Given the description of an element on the screen output the (x, y) to click on. 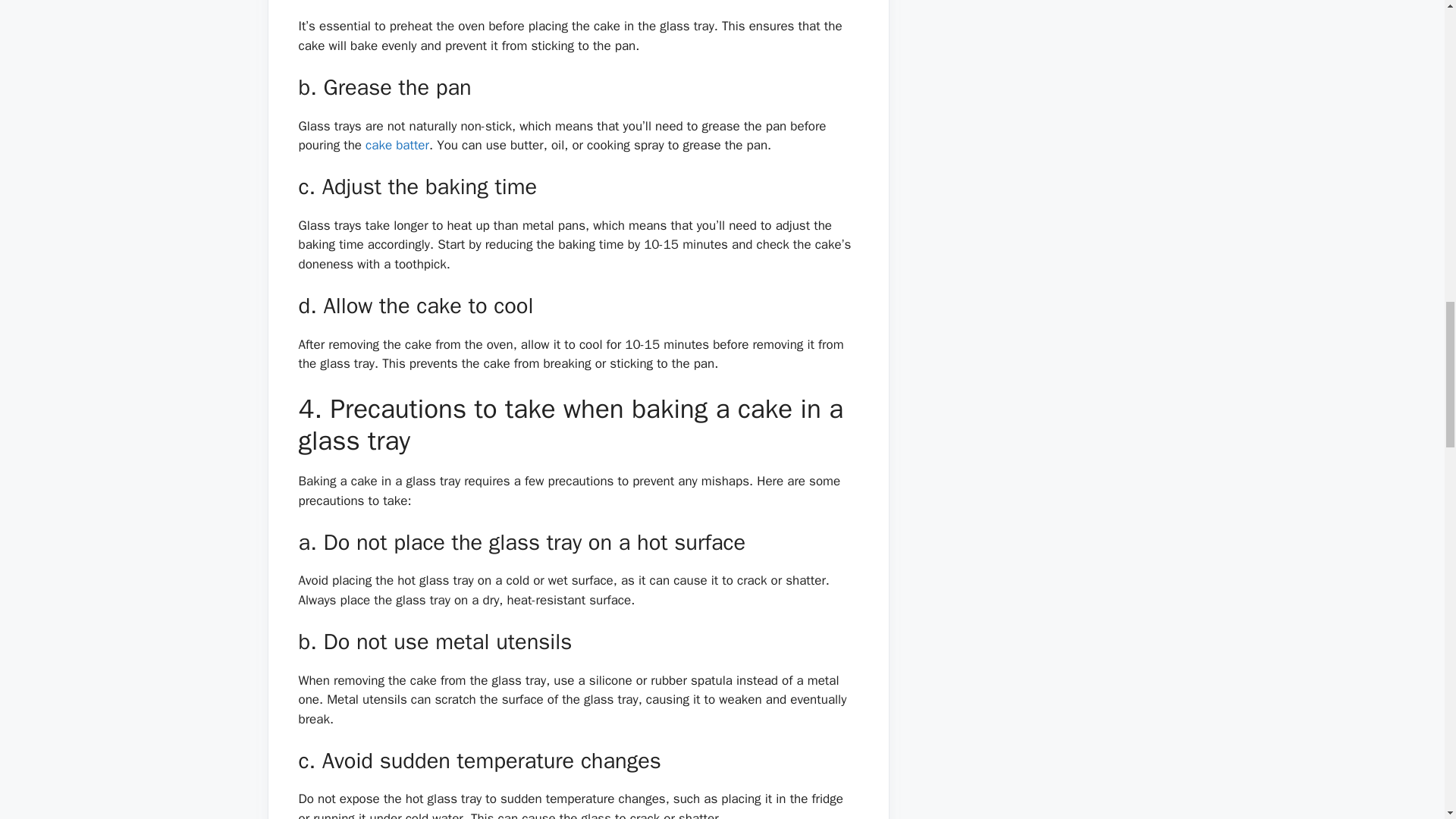
cake batter (397, 145)
